Given the description of an element on the screen output the (x, y) to click on. 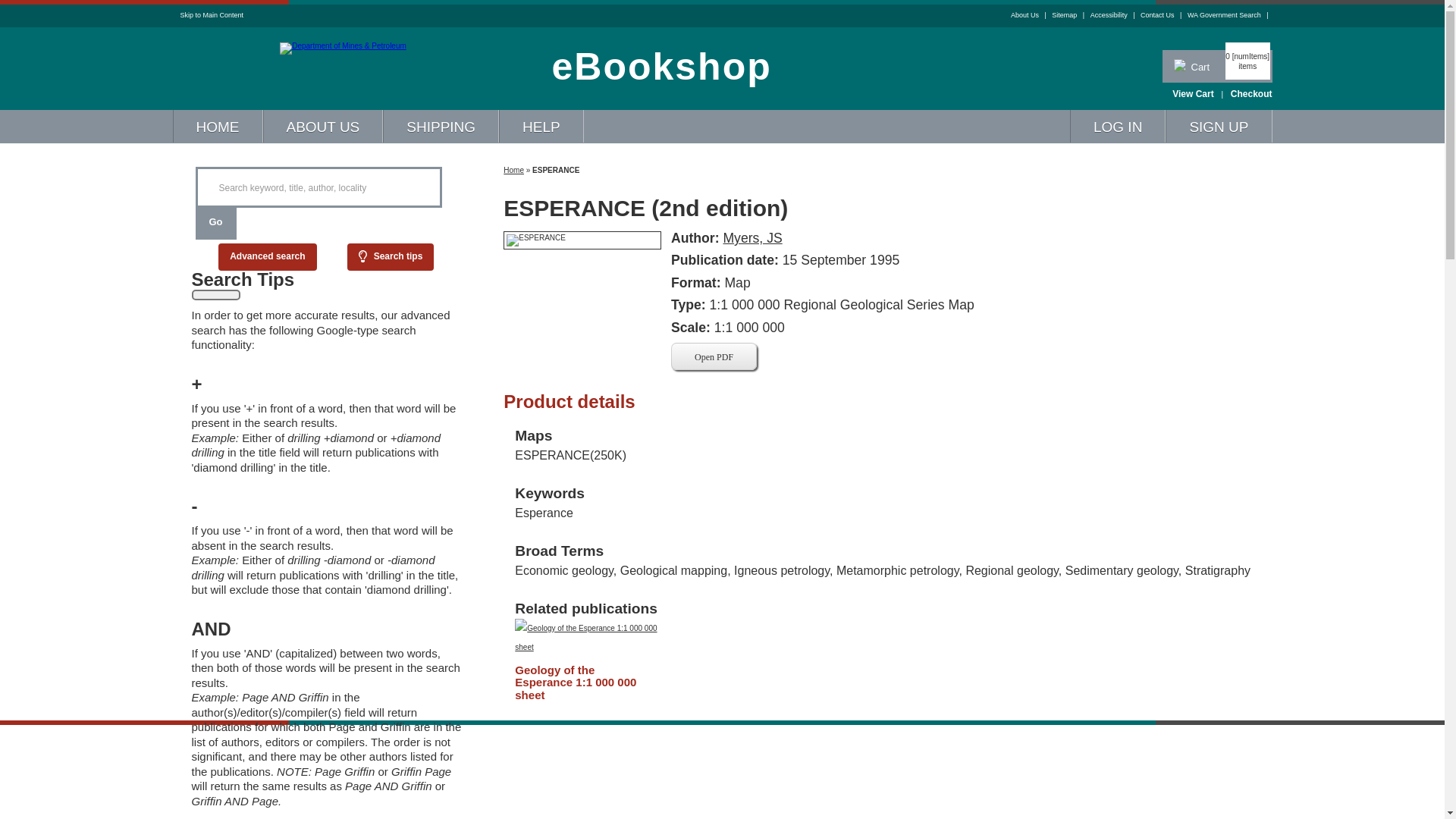
SHIPPING Element type: text (440, 125)
Open PDF Element type: text (713, 356)
ABOUT US Element type: text (322, 125)
LOG IN Element type: text (1117, 125)
HOME Element type: text (216, 125)
ESPERANCE Element type: hover (582, 240)
Search keyword, title, author, locality Element type: text (318, 186)
Checkout Element type: text (1251, 93)
HELP Element type: text (541, 125)
Sitemap Element type: text (1070, 14)
Myers, JS Element type: text (751, 237)
Advanced search Element type: text (267, 256)
Accessibility Element type: text (1115, 14)
Go Element type: text (215, 223)
Geology of the Esperance 1:1 000 000 sheet Element type: hover (587, 647)
WA Government Search Element type: text (1229, 14)
Geology of the Esperance 1:1 000 000 sheet Element type: text (580, 683)
SIGN UP Element type: text (1218, 125)
About Us Element type: text (1030, 14)
Home Element type: text (513, 158)
Department of Mines & Petroleum Bookshop Home Element type: hover (342, 45)
View Cart Element type: text (1192, 93)
Contact Us Element type: text (1163, 14)
Skip to Main Content Element type: text (212, 15)
Search tips Element type: text (390, 256)
